Given the description of an element on the screen output the (x, y) to click on. 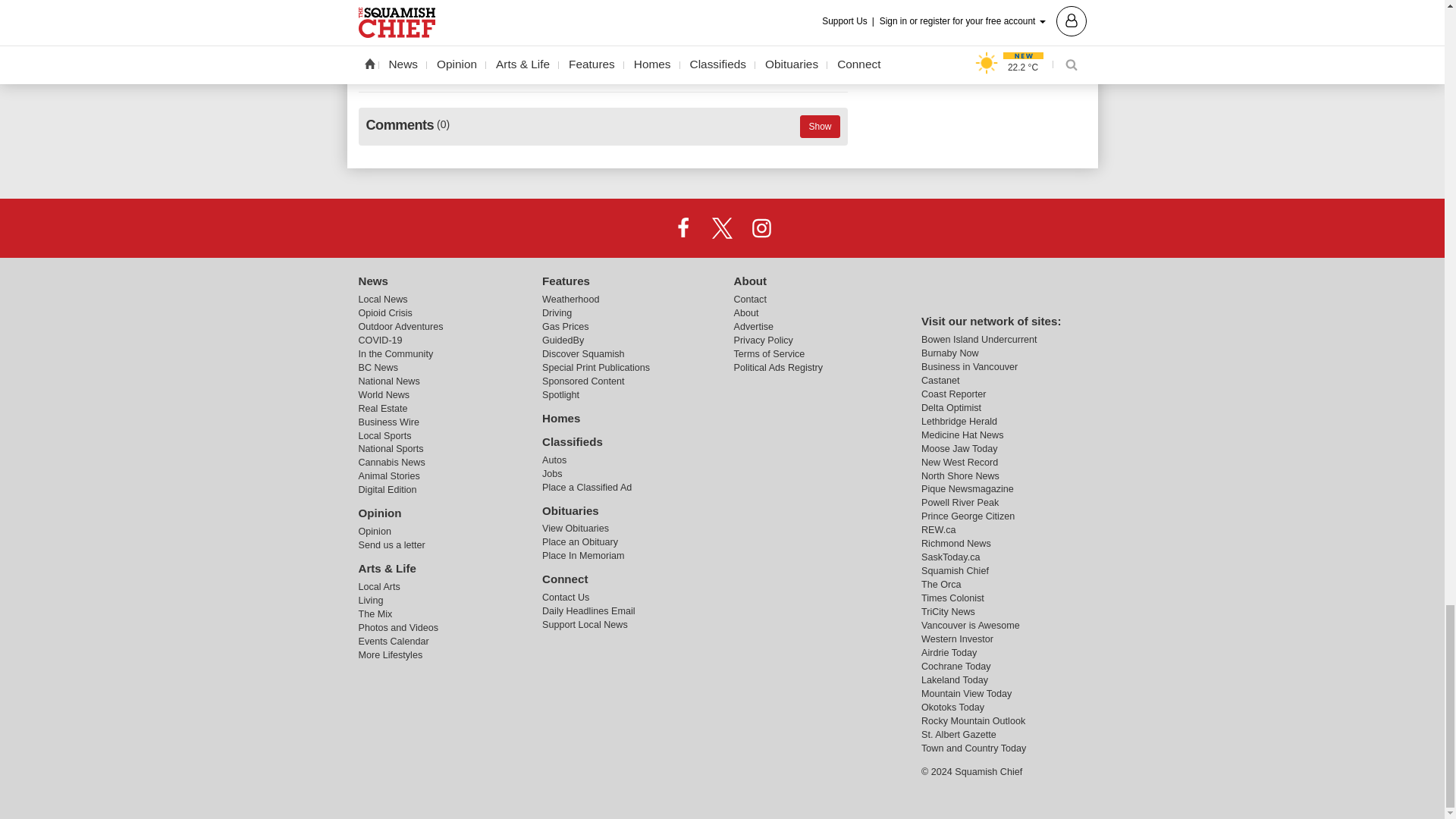
Instagram (760, 226)
X (721, 226)
Facebook (683, 226)
